Given the description of an element on the screen output the (x, y) to click on. 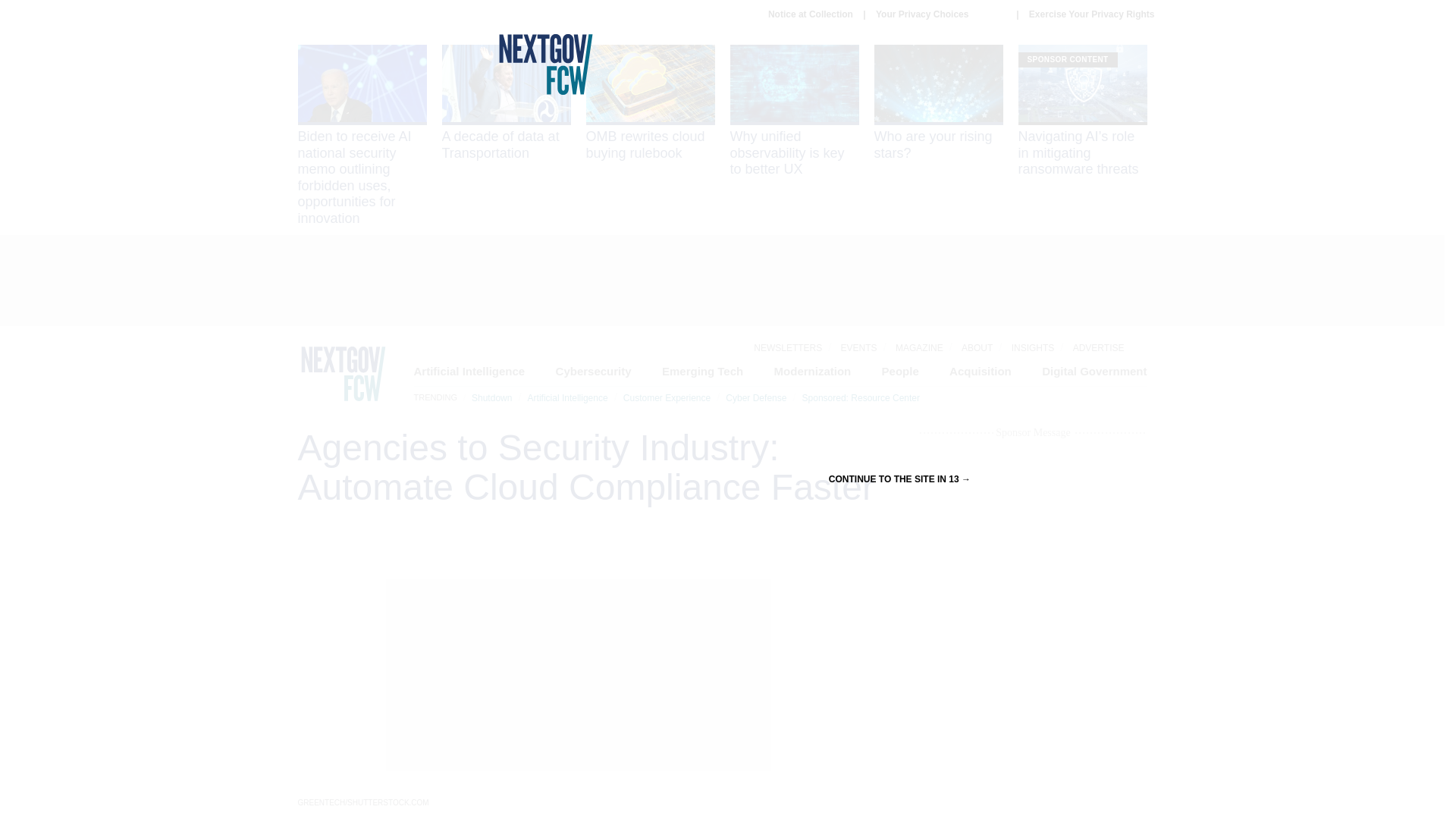
EVENTS (859, 347)
INSIGHTS (1032, 347)
3rd party ad content (721, 280)
Shutdown (491, 398)
3rd party ad content (1032, 631)
ABOUT (976, 347)
Emerging Tech (702, 370)
Digital Government (1094, 370)
A decade of data at Transportation (505, 103)
Modernization (812, 370)
MAGAZINE (919, 347)
Exercise Your Privacy Rights (1091, 14)
Why unified observability is key to better UX (794, 111)
